Given the description of an element on the screen output the (x, y) to click on. 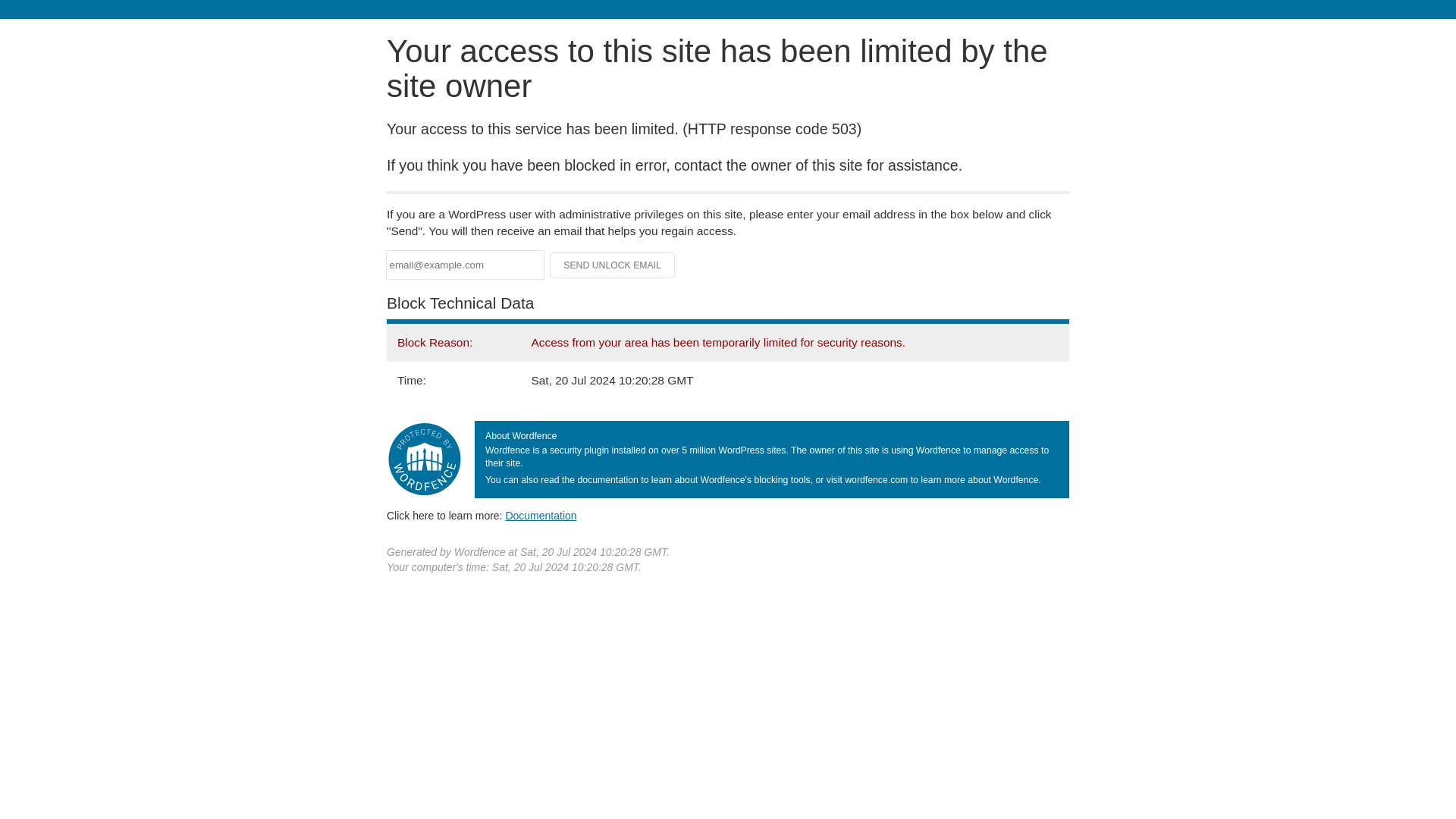
Send Unlock Email (612, 265)
Documentation (540, 515)
Send Unlock Email (612, 265)
